Given the description of an element on the screen output the (x, y) to click on. 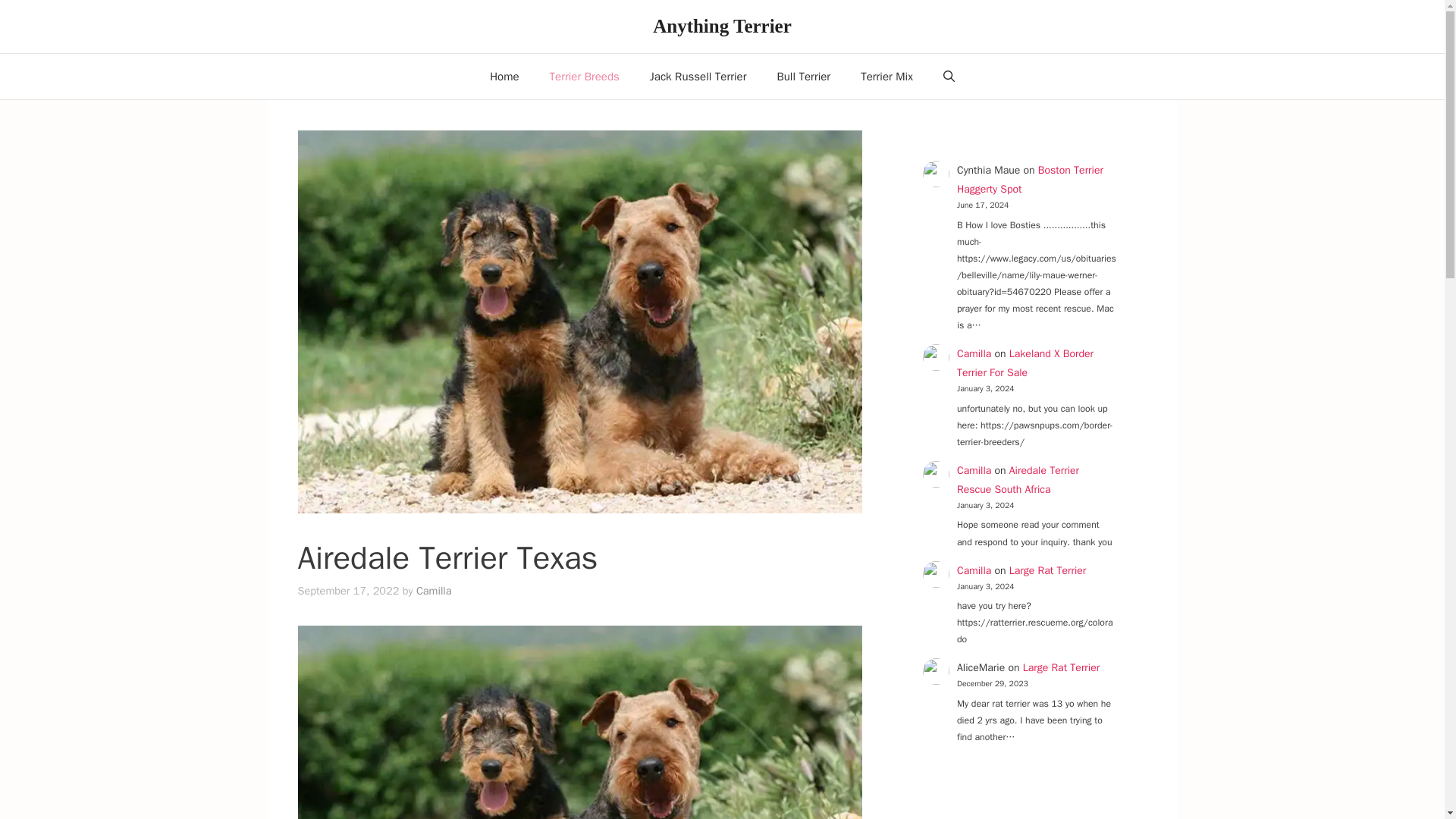
Anything Terrier (722, 25)
Bull Terrier (803, 76)
Large Rat Terrier (1047, 570)
Lakeland X Border Terrier For Sale (1024, 363)
View all posts by Camilla (433, 590)
Terrier Mix (886, 76)
Terrier Breeds (584, 76)
Jack Russell Terrier (697, 76)
Camilla (973, 353)
Large Rat Terrier (1061, 667)
